Given the description of an element on the screen output the (x, y) to click on. 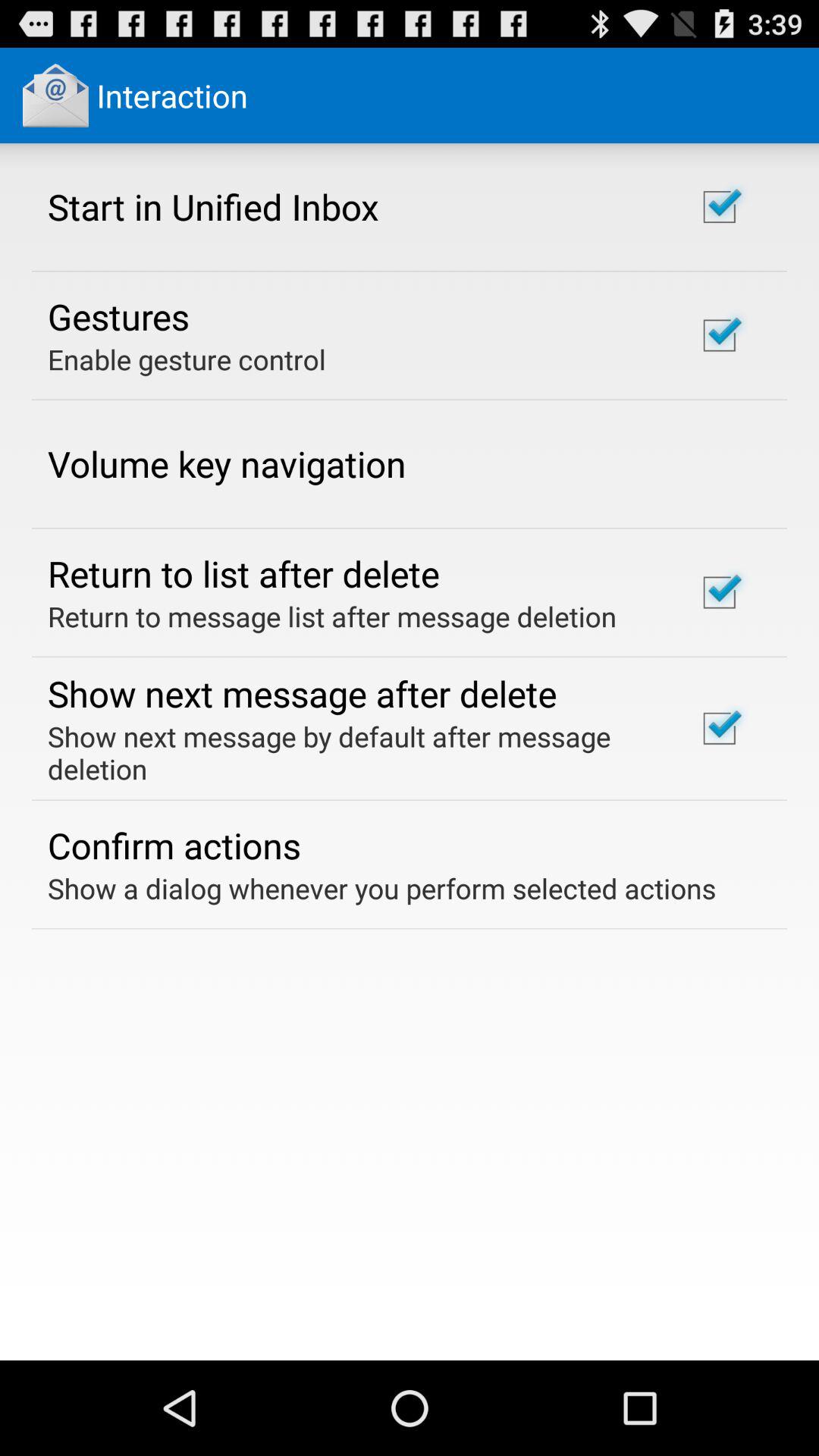
choose the icon above the gestures app (212, 206)
